Given the description of an element on the screen output the (x, y) to click on. 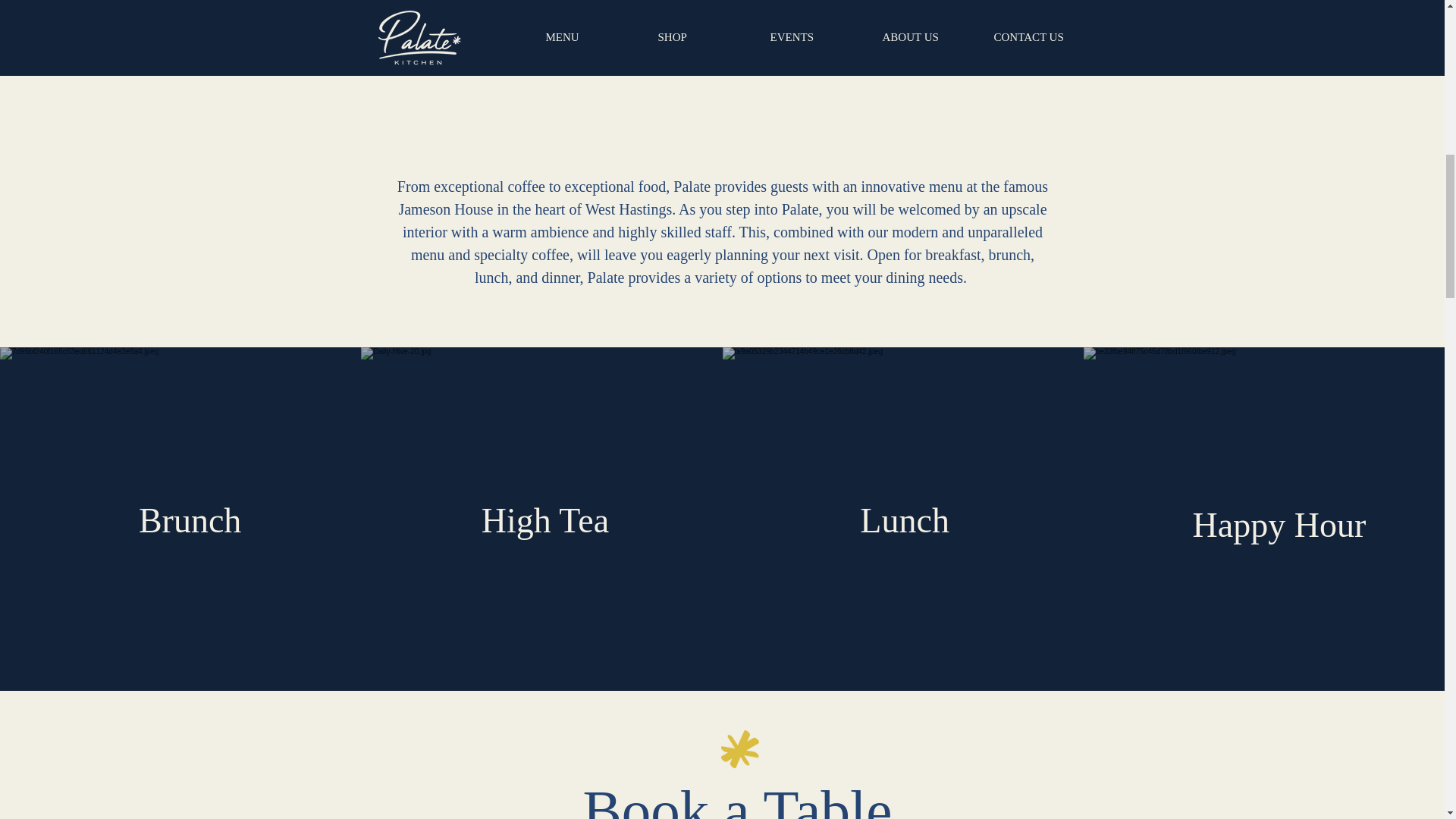
 Happy Hour  (1278, 525)
Brunch (189, 520)
 High Tea  (544, 520)
Lunch (904, 520)
